Given the description of an element on the screen output the (x, y) to click on. 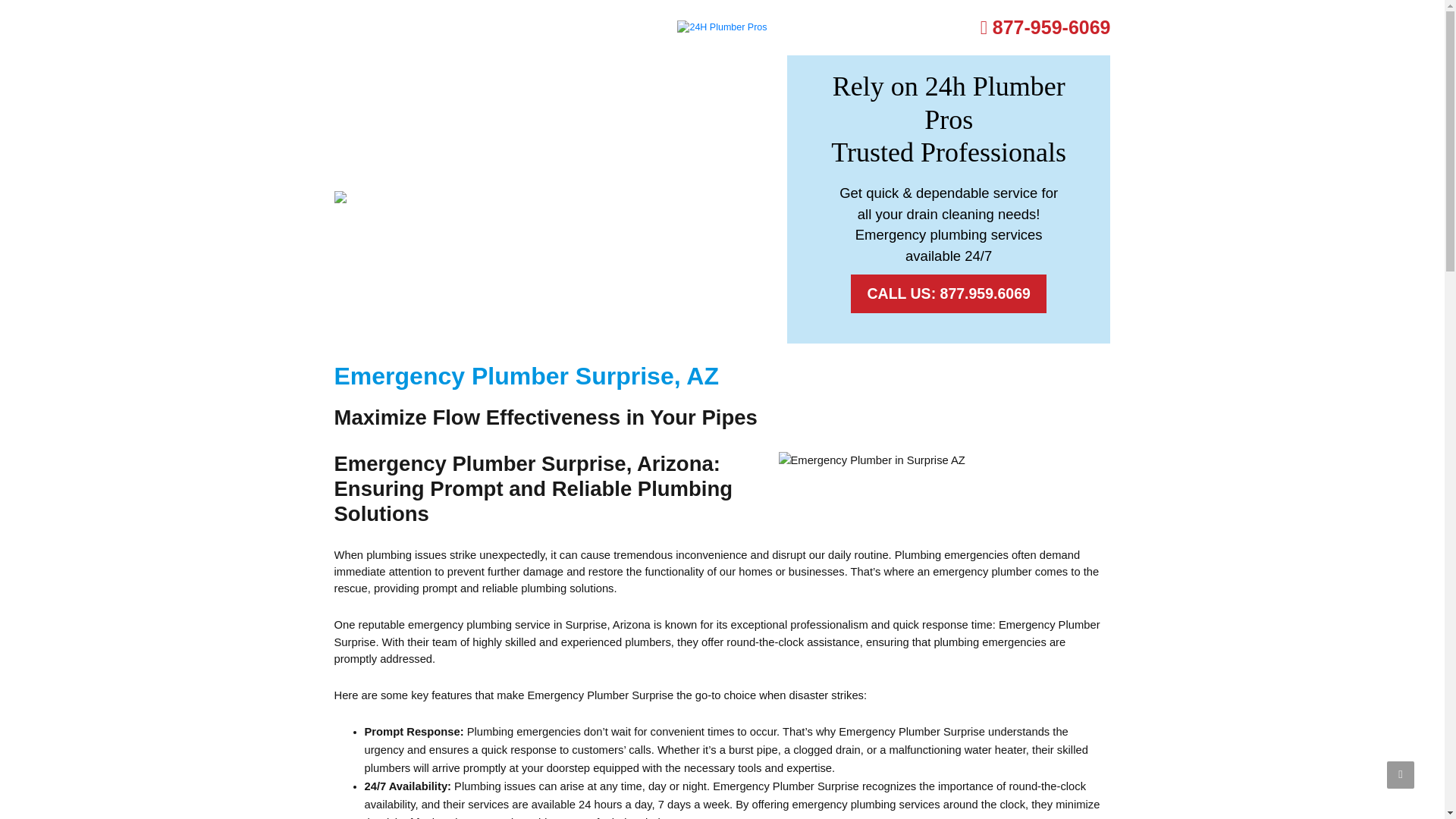
Back To Top (1400, 774)
CALL US: 877.959.6069 (947, 293)
877-959-6069 (1044, 26)
24H Plumber Pros (722, 27)
Call Us Now (1044, 26)
